Given the description of an element on the screen output the (x, y) to click on. 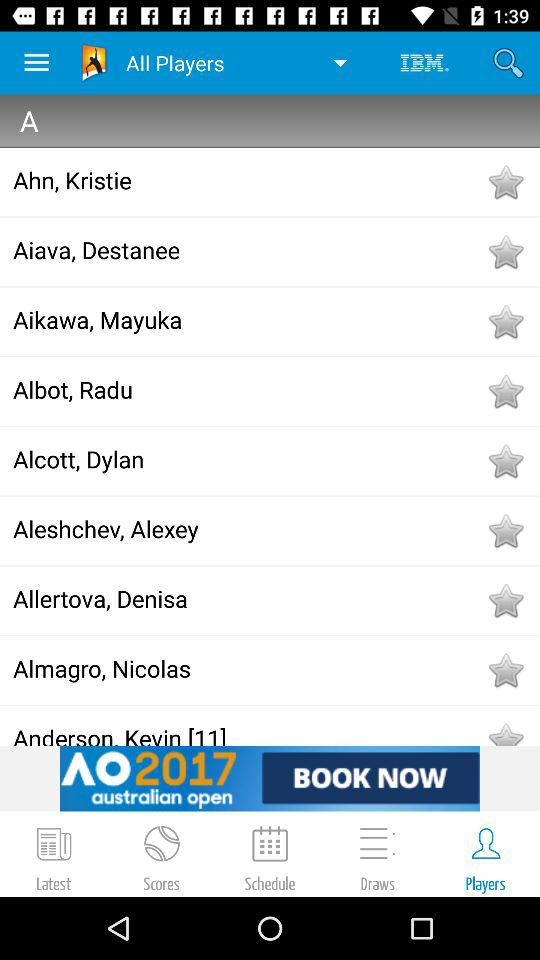
toggle favorite (505, 670)
